Given the description of an element on the screen output the (x, y) to click on. 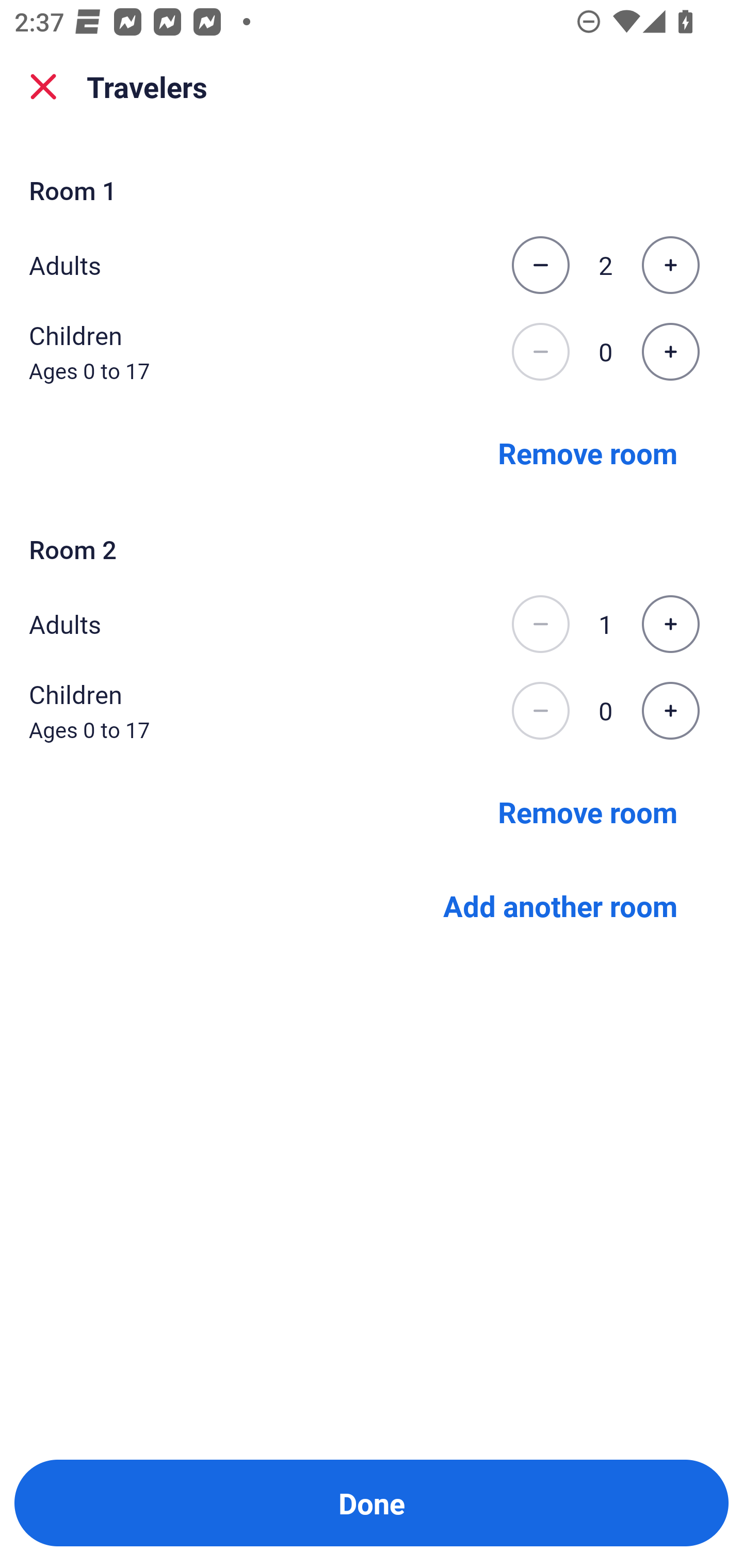
close (43, 86)
Decrease the number of adults (540, 264)
Increase the number of adults (670, 264)
Decrease the number of children (540, 351)
Increase the number of children (670, 351)
Remove room (588, 452)
Decrease the number of adults (540, 623)
Increase the number of adults (670, 623)
Decrease the number of children (540, 710)
Increase the number of children (670, 710)
Remove room (588, 811)
Add another room (560, 905)
Done (371, 1502)
